Given the description of an element on the screen output the (x, y) to click on. 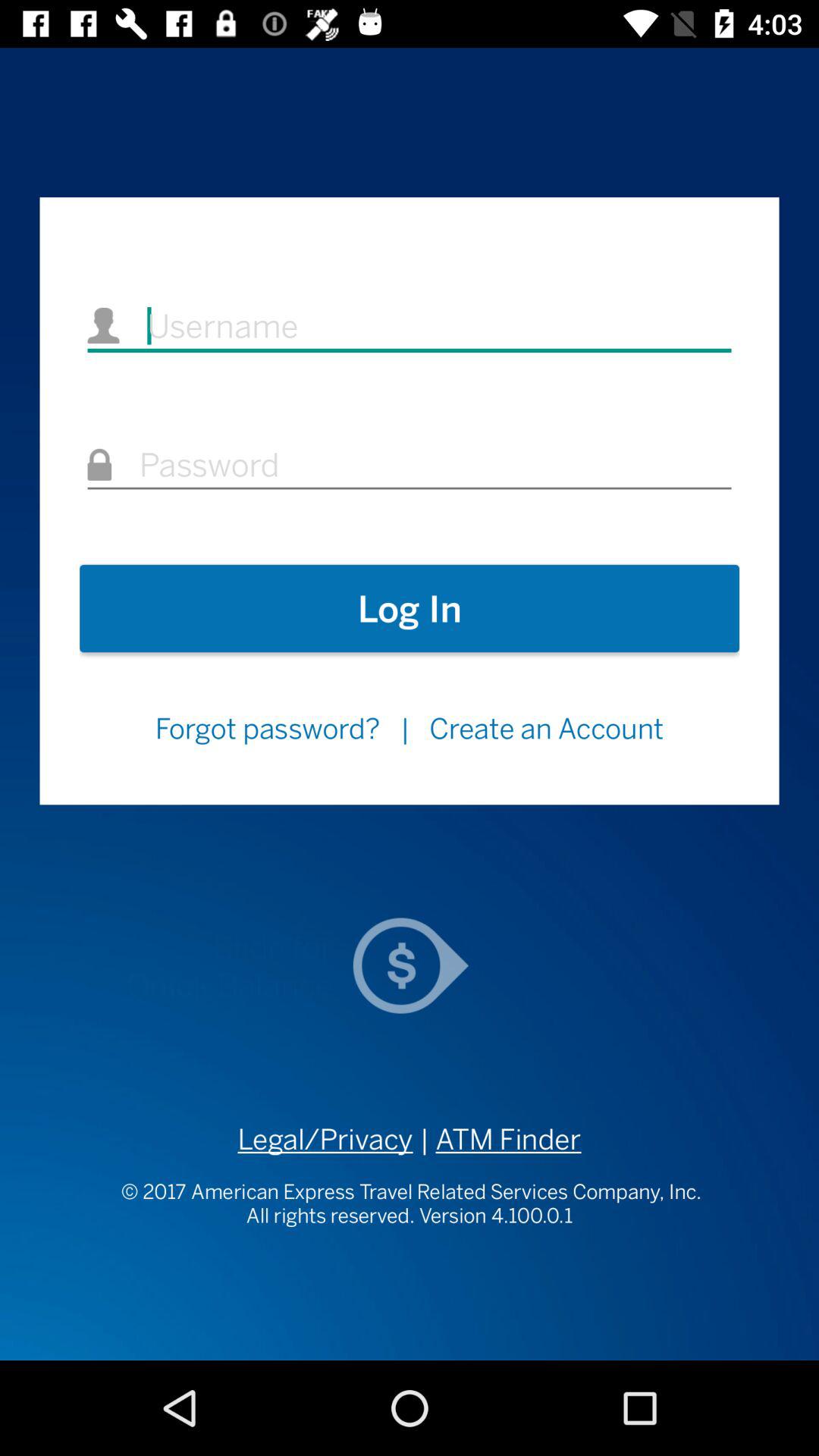
tap the create an account on the right (546, 728)
